Given the description of an element on the screen output the (x, y) to click on. 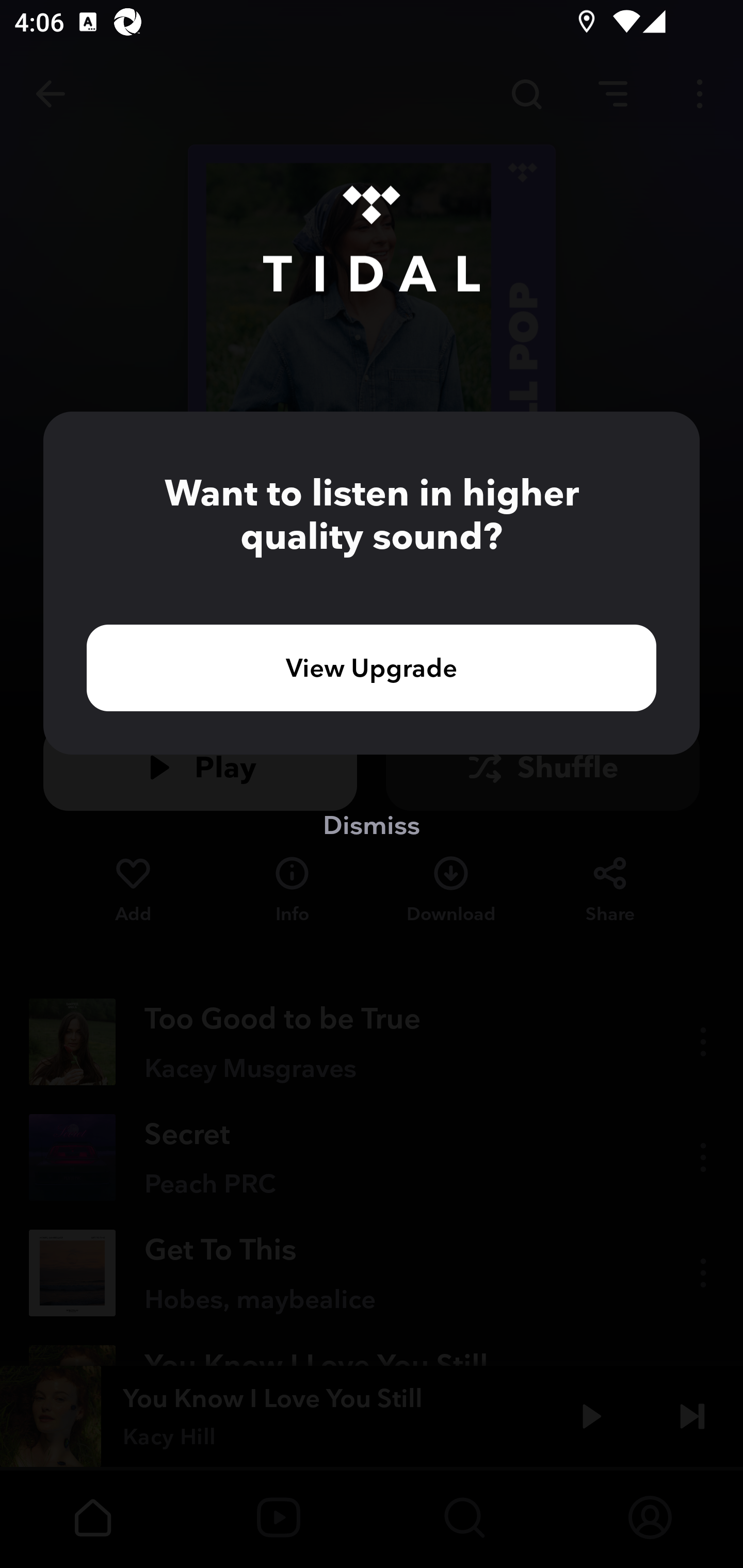
View Upgrade (371, 667)
Dismiss (371, 824)
